Given the description of an element on the screen output the (x, y) to click on. 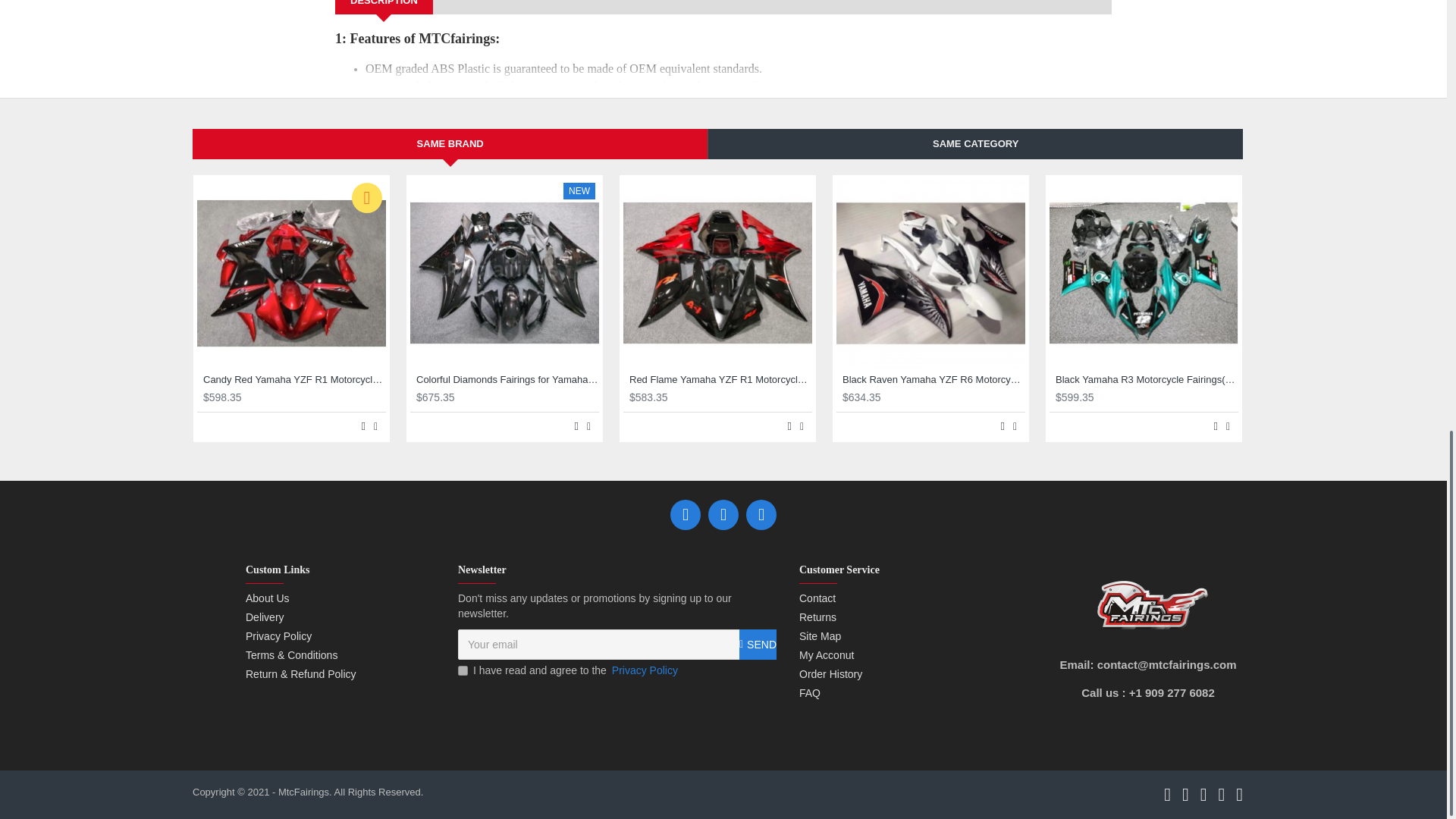
1 (462, 670)
